Given the description of an element on the screen output the (x, y) to click on. 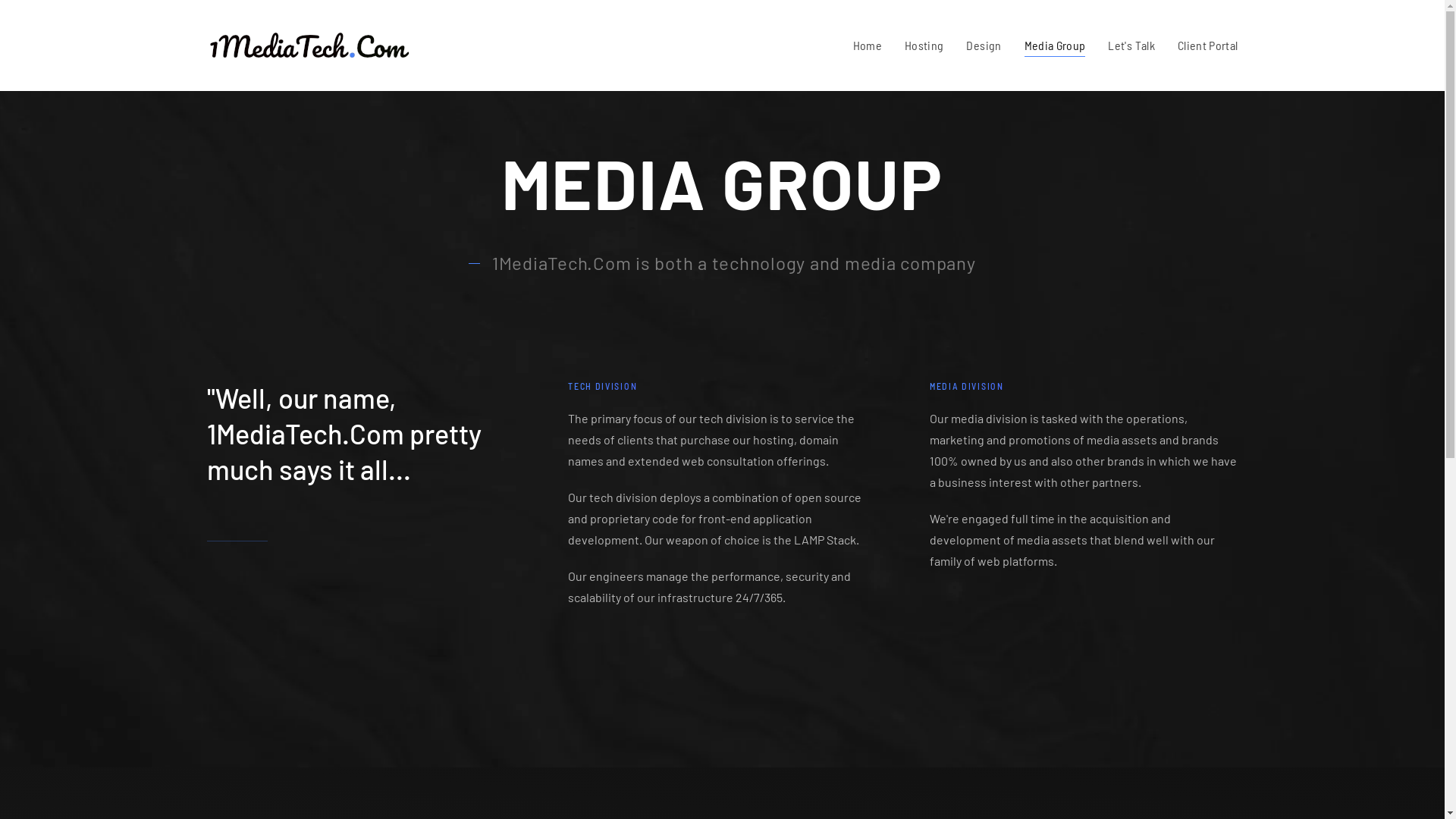
Home Element type: text (867, 45)
Design Element type: text (983, 45)
Let's Talk Element type: text (1130, 45)
Media Group Element type: text (1054, 45)
Hosting Element type: text (923, 45)
Client Portal Element type: text (1207, 45)
